Given the description of an element on the screen output the (x, y) to click on. 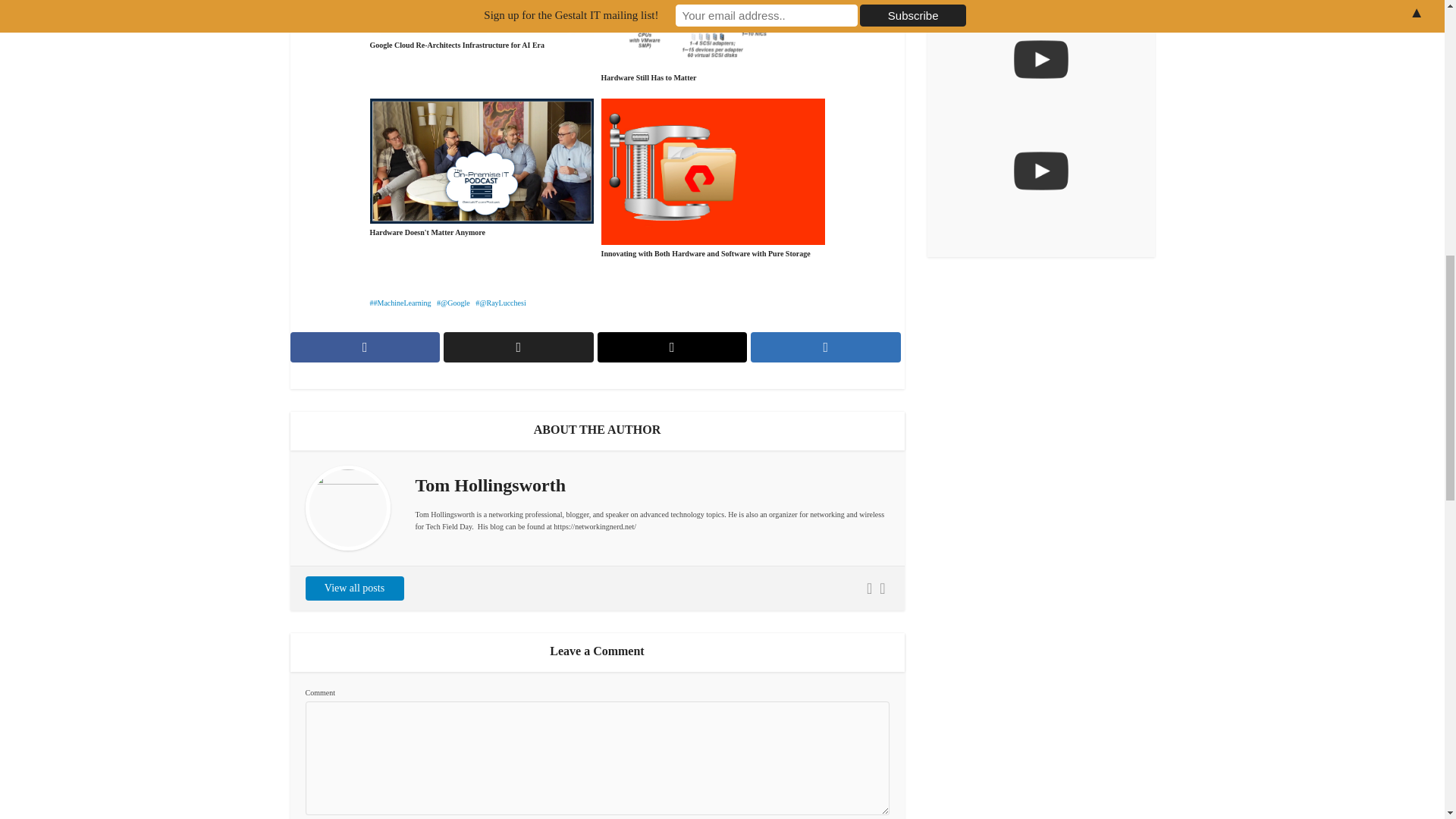
Google Looking to Make Magic with Wiz (1040, 59)
Mirantis Updates its Kubernetes Platform (1040, 170)
